Given the description of an element on the screen output the (x, y) to click on. 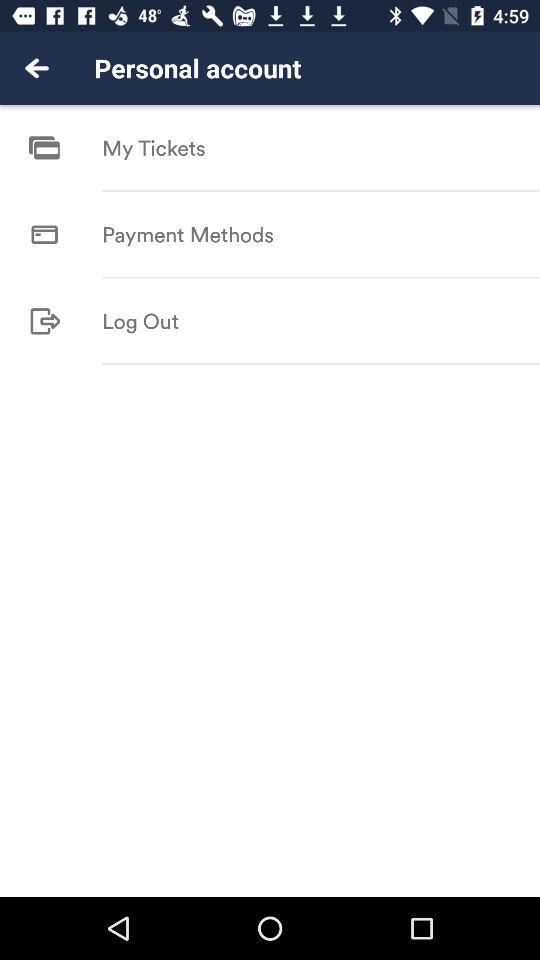
choose icon at the center (321, 363)
